Given the description of an element on the screen output the (x, y) to click on. 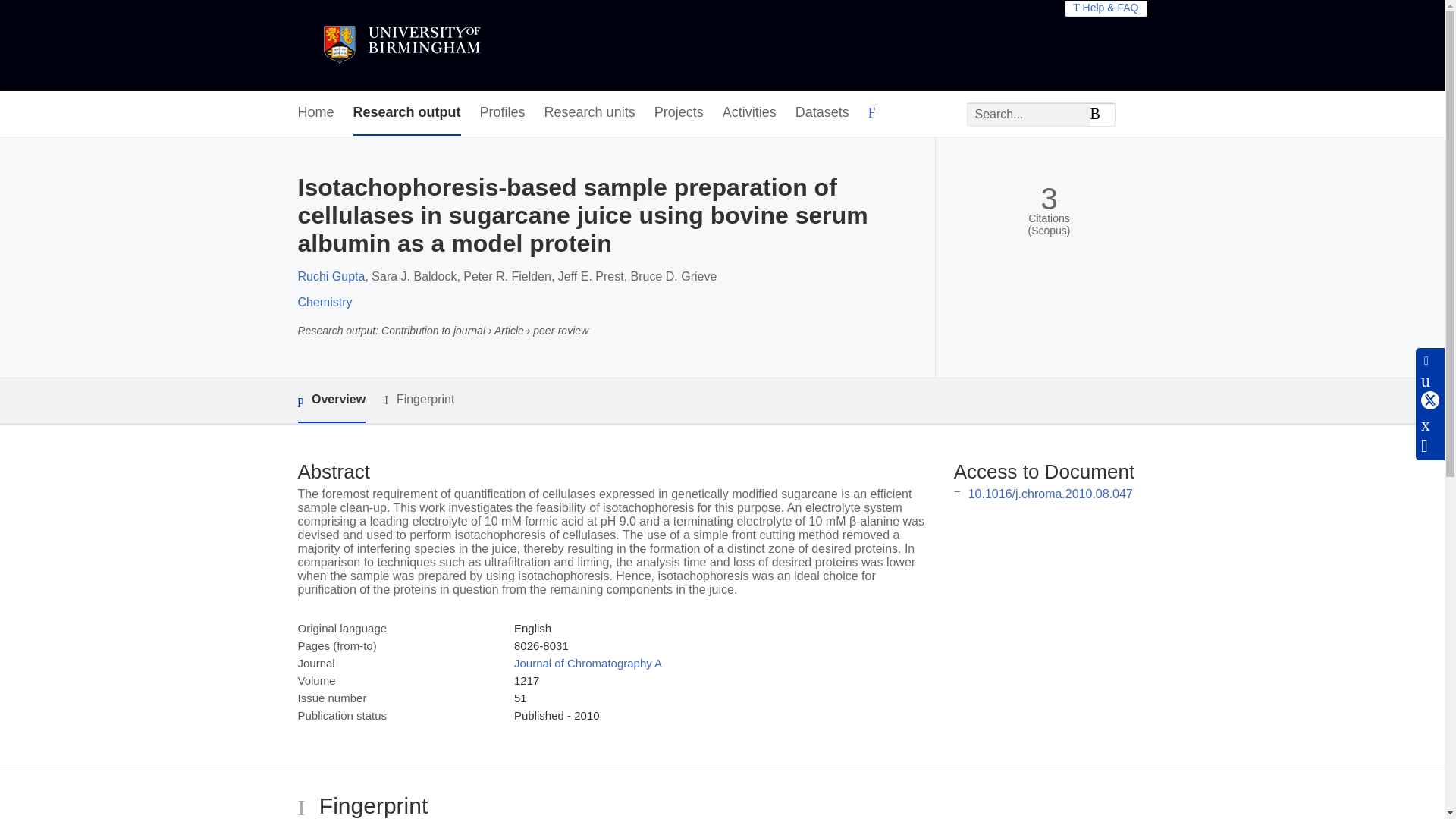
Profiles (502, 112)
Chemistry (324, 301)
University of Birmingham Home (401, 45)
Research units (589, 112)
Fingerprint (419, 399)
Activities (749, 112)
Research output (407, 112)
Ruchi Gupta (331, 276)
Overview (331, 400)
Journal of Chromatography A (587, 662)
Datasets (821, 112)
Projects (678, 112)
